Given the description of an element on the screen output the (x, y) to click on. 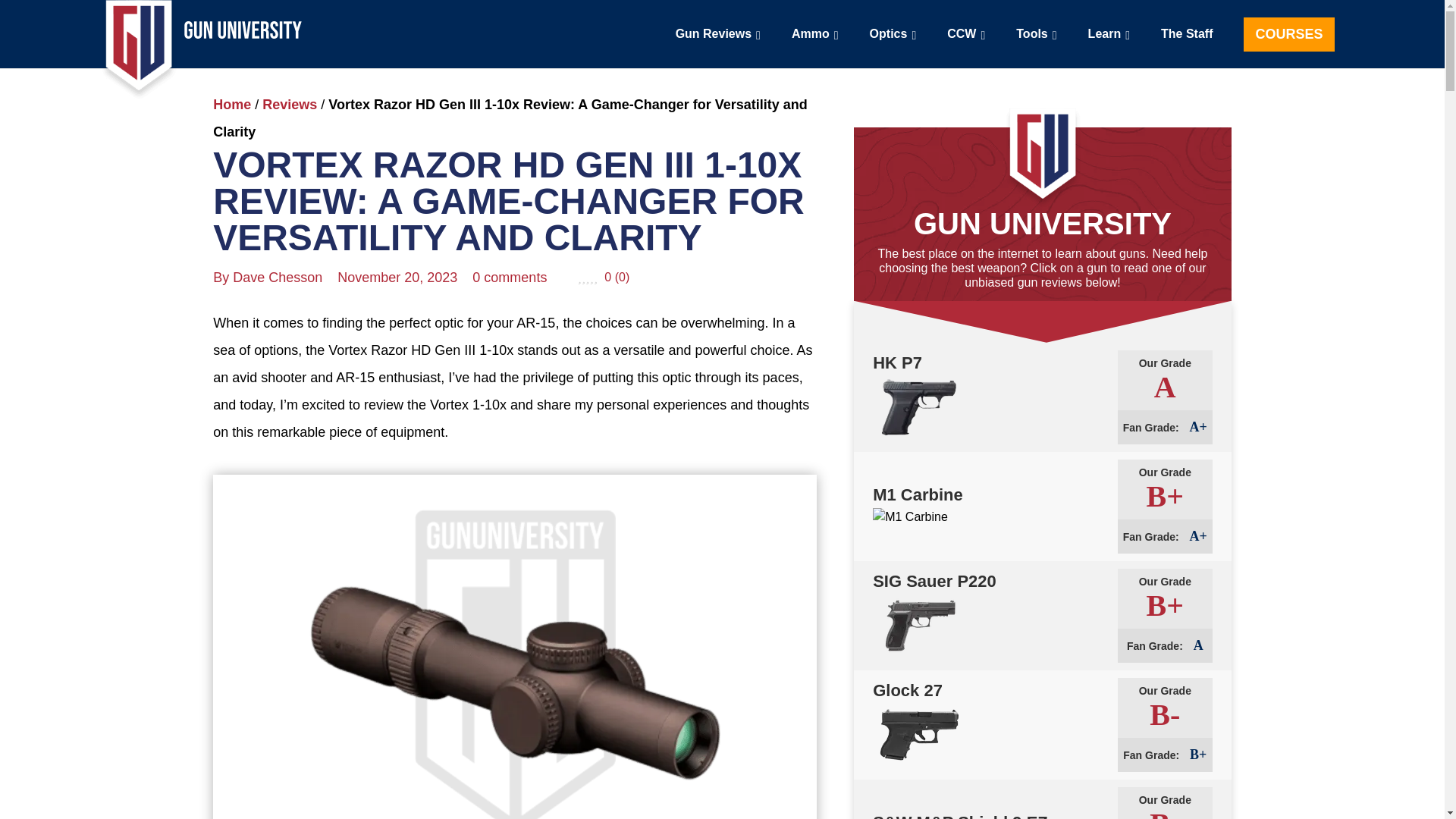
Optics (892, 33)
Ammo (814, 33)
Gun Reviews (718, 33)
